Given the description of an element on the screen output the (x, y) to click on. 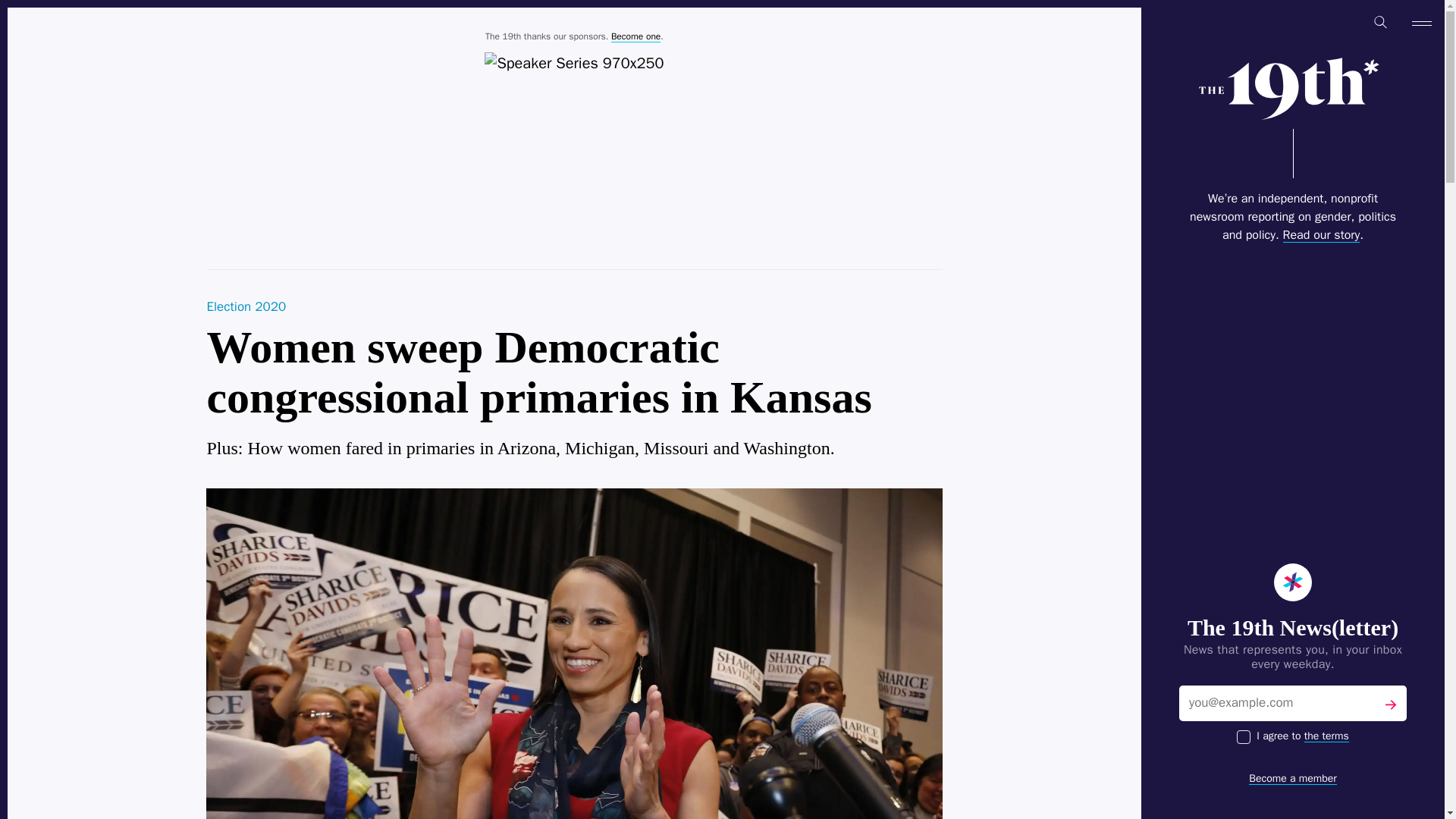
on (1243, 736)
Speaker Series 970x250 (573, 63)
